Given the description of an element on the screen output the (x, y) to click on. 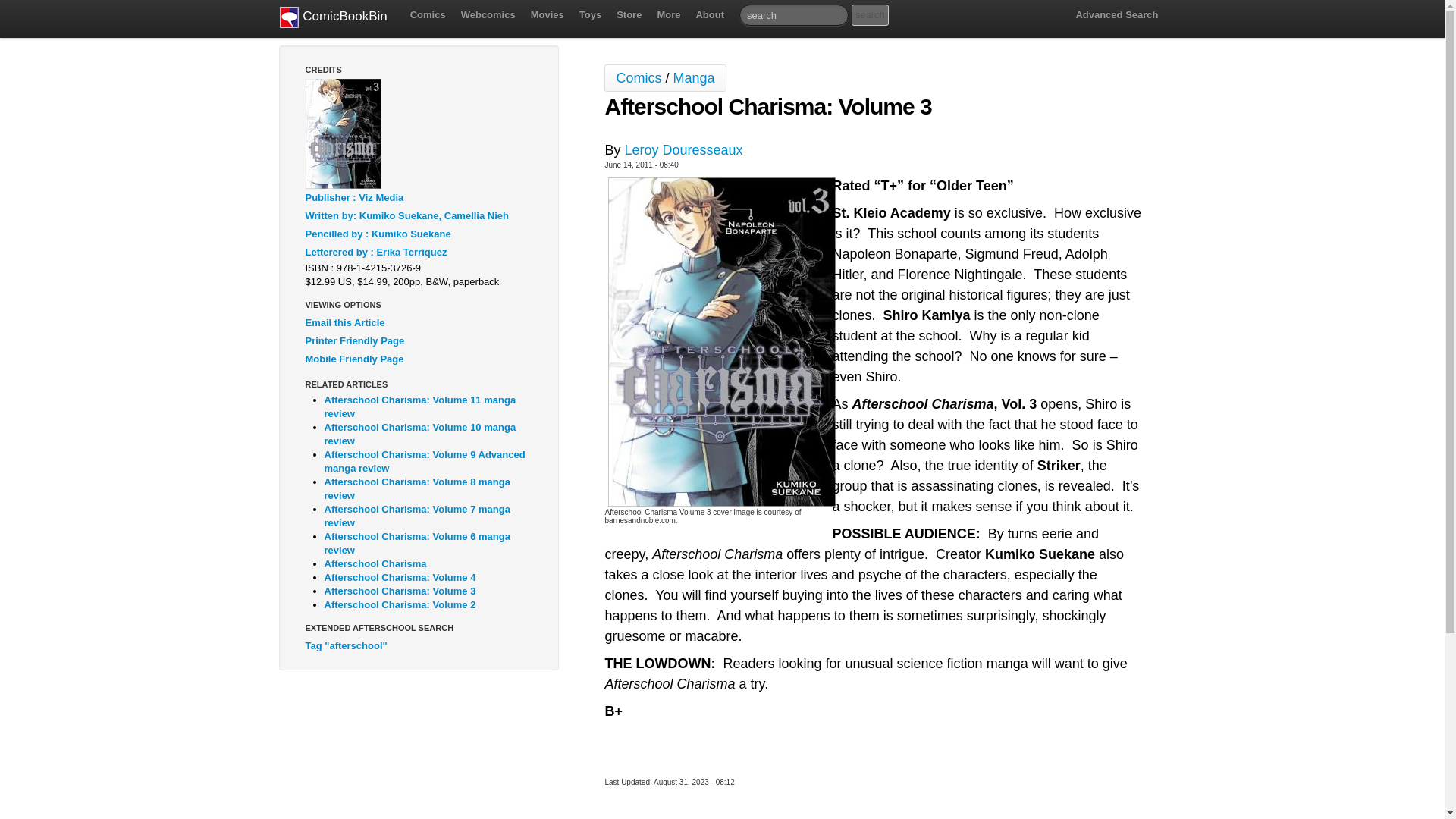
search (869, 14)
About (709, 15)
Toys (590, 15)
Comics (427, 15)
Store (628, 15)
More (668, 15)
 ComicBookBin (333, 18)
Movies (547, 15)
Webcomics (487, 15)
